Given the description of an element on the screen output the (x, y) to click on. 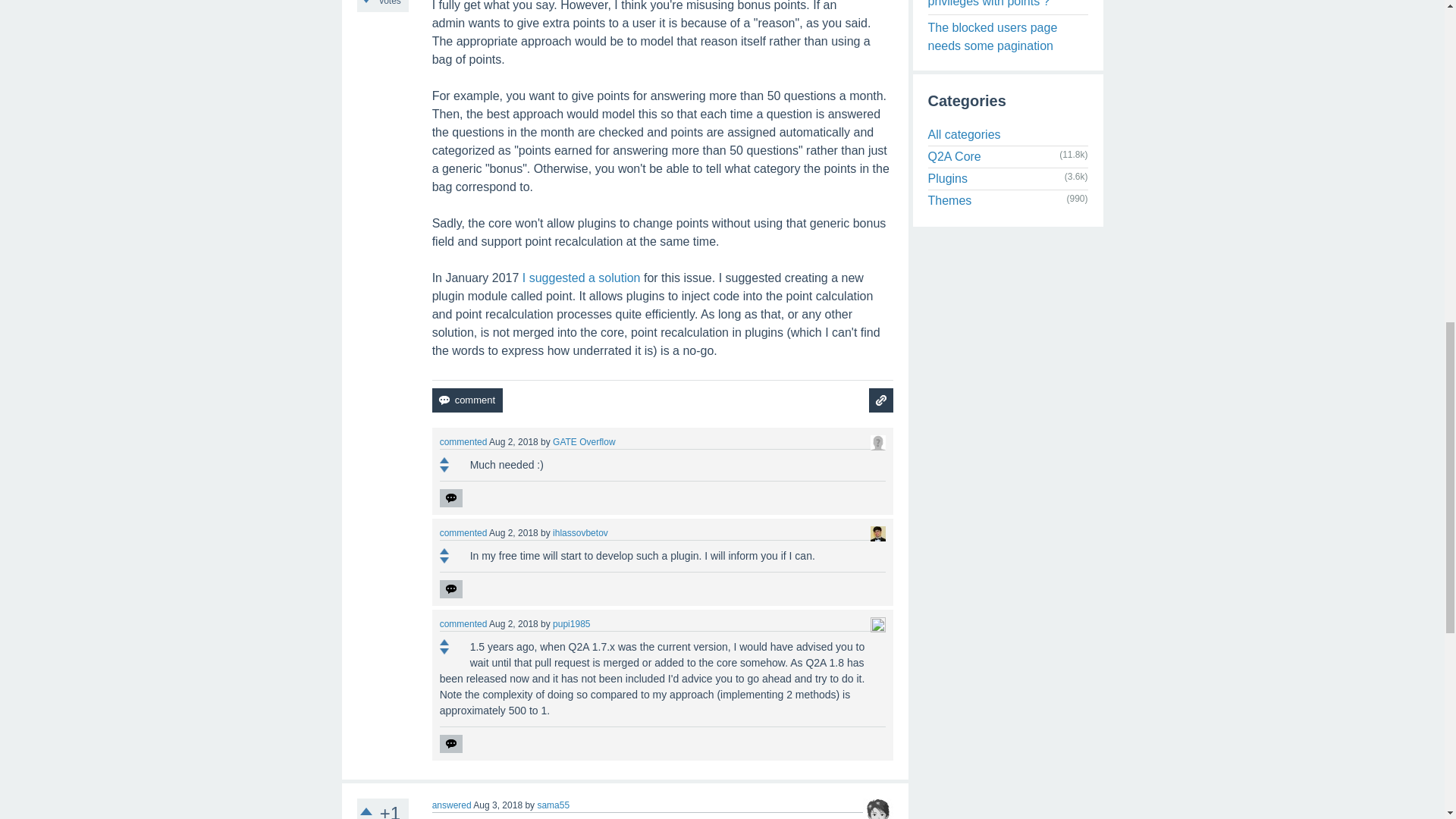
Click to vote down (365, 1)
ask related question (881, 400)
Add a comment on this answer (467, 400)
comment (467, 400)
reply (451, 588)
Click to vote up (443, 460)
reply (451, 497)
Ask a new question relating to this answer (881, 400)
